Given the description of an element on the screen output the (x, y) to click on. 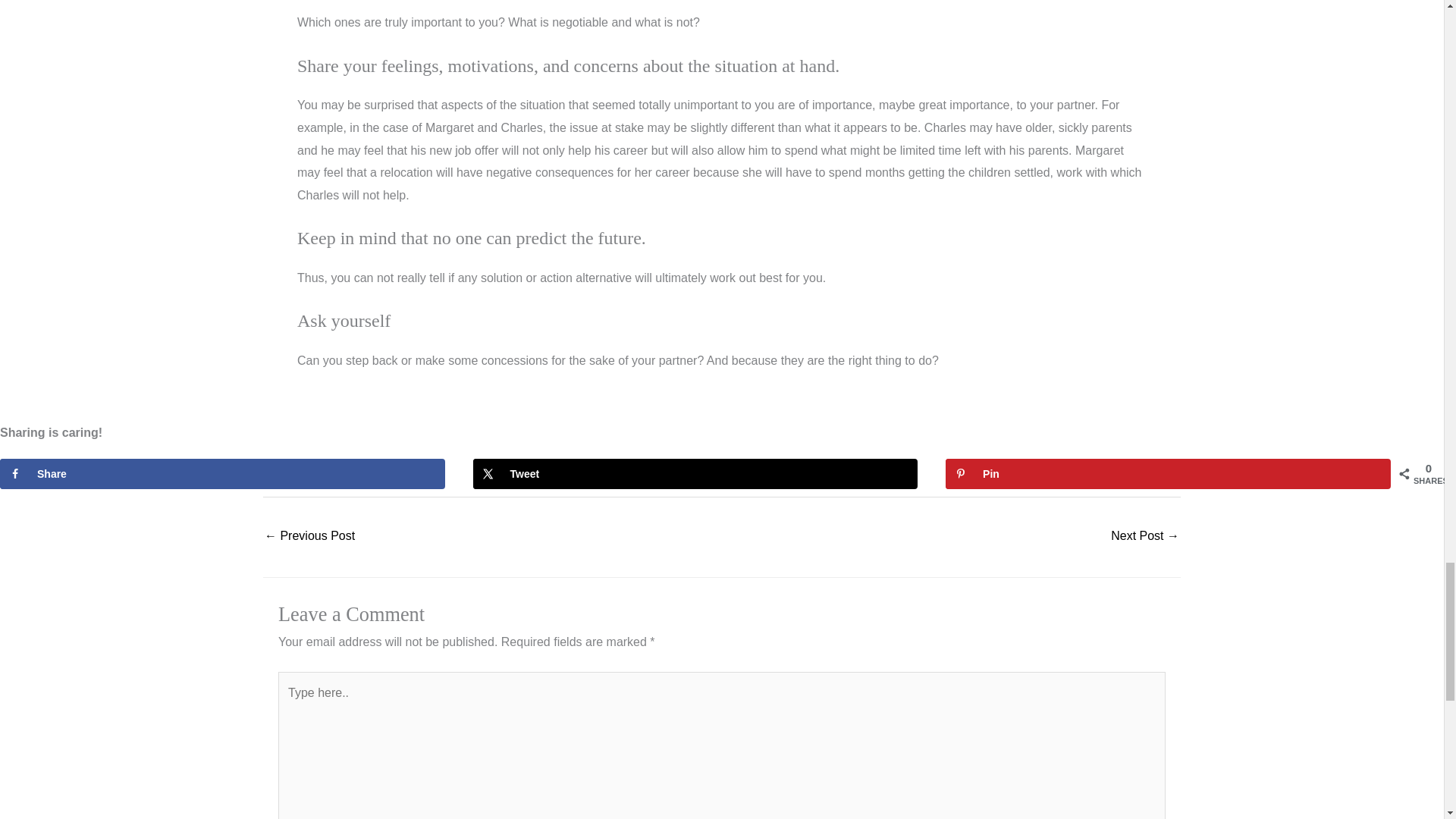
Pin (1167, 473)
Share (222, 473)
Tweet (695, 473)
Save to Pinterest (1167, 473)
Why have kids? (1144, 537)
Share on Facebook (222, 473)
Share on X (695, 473)
